Given the description of an element on the screen output the (x, y) to click on. 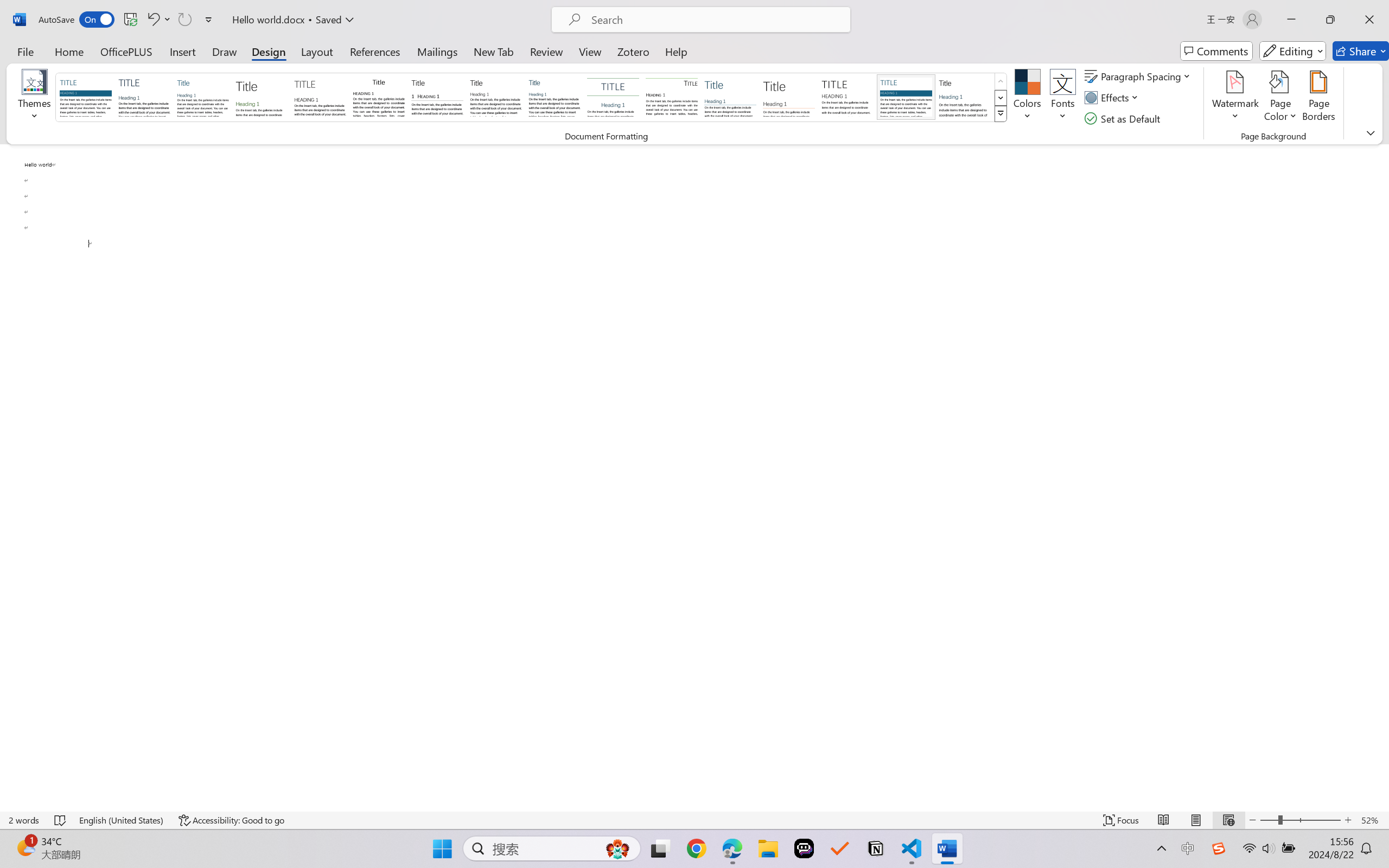
File Tab (24, 51)
Help (675, 51)
Word (964, 96)
Colors (1027, 97)
References (375, 51)
Document (85, 96)
Basic (Elegant) (144, 96)
Microsoft search (715, 19)
Black & White (Capitalized) (320, 96)
Paragraph Spacing (1139, 75)
Zoom In (1348, 819)
Undo Apply Quick Style Set (152, 19)
Shaded (905, 96)
Lines (Distinctive) (671, 96)
